Given the description of an element on the screen output the (x, y) to click on. 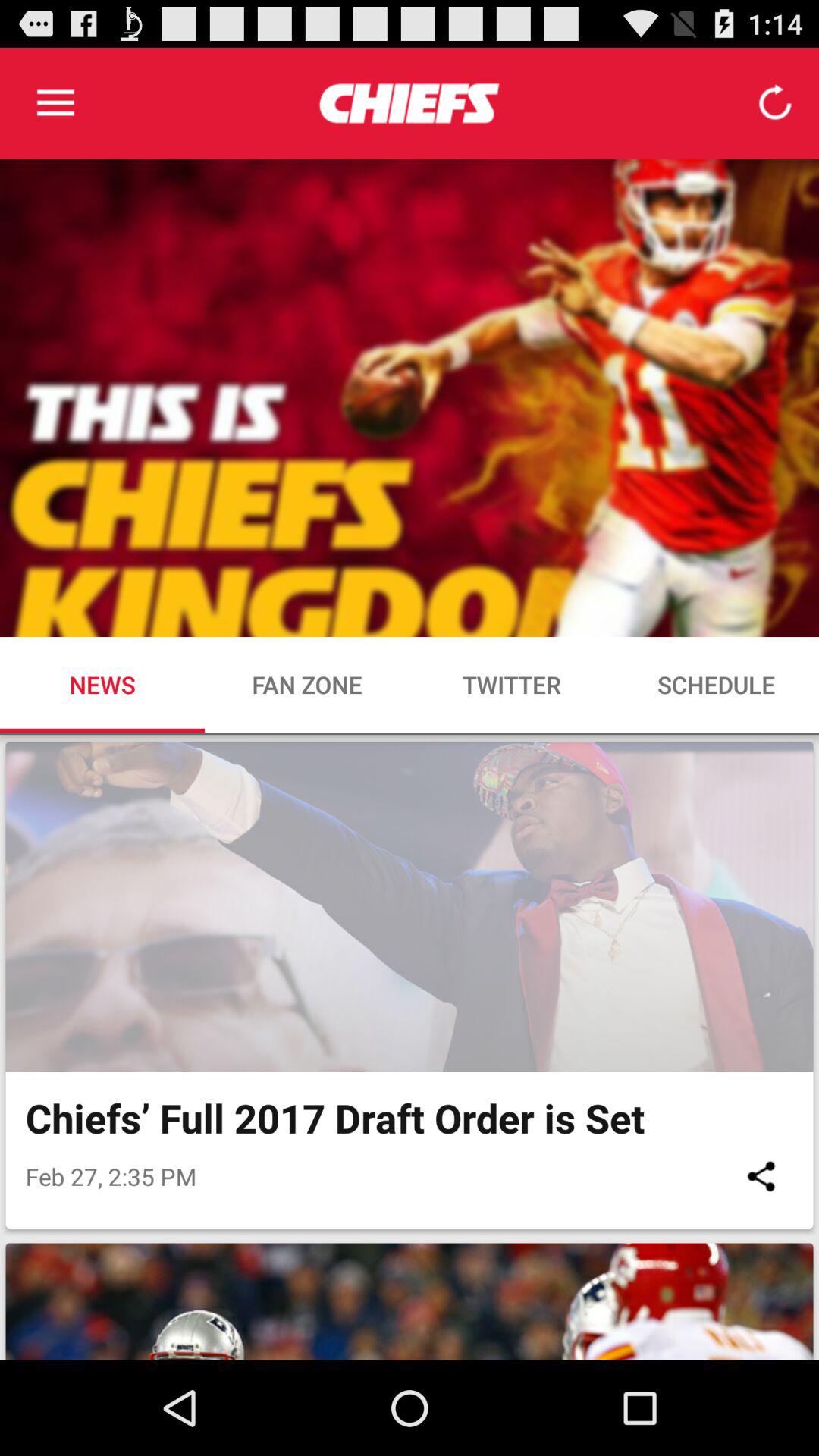
turn off item at the top left corner (55, 103)
